Given the description of an element on the screen output the (x, y) to click on. 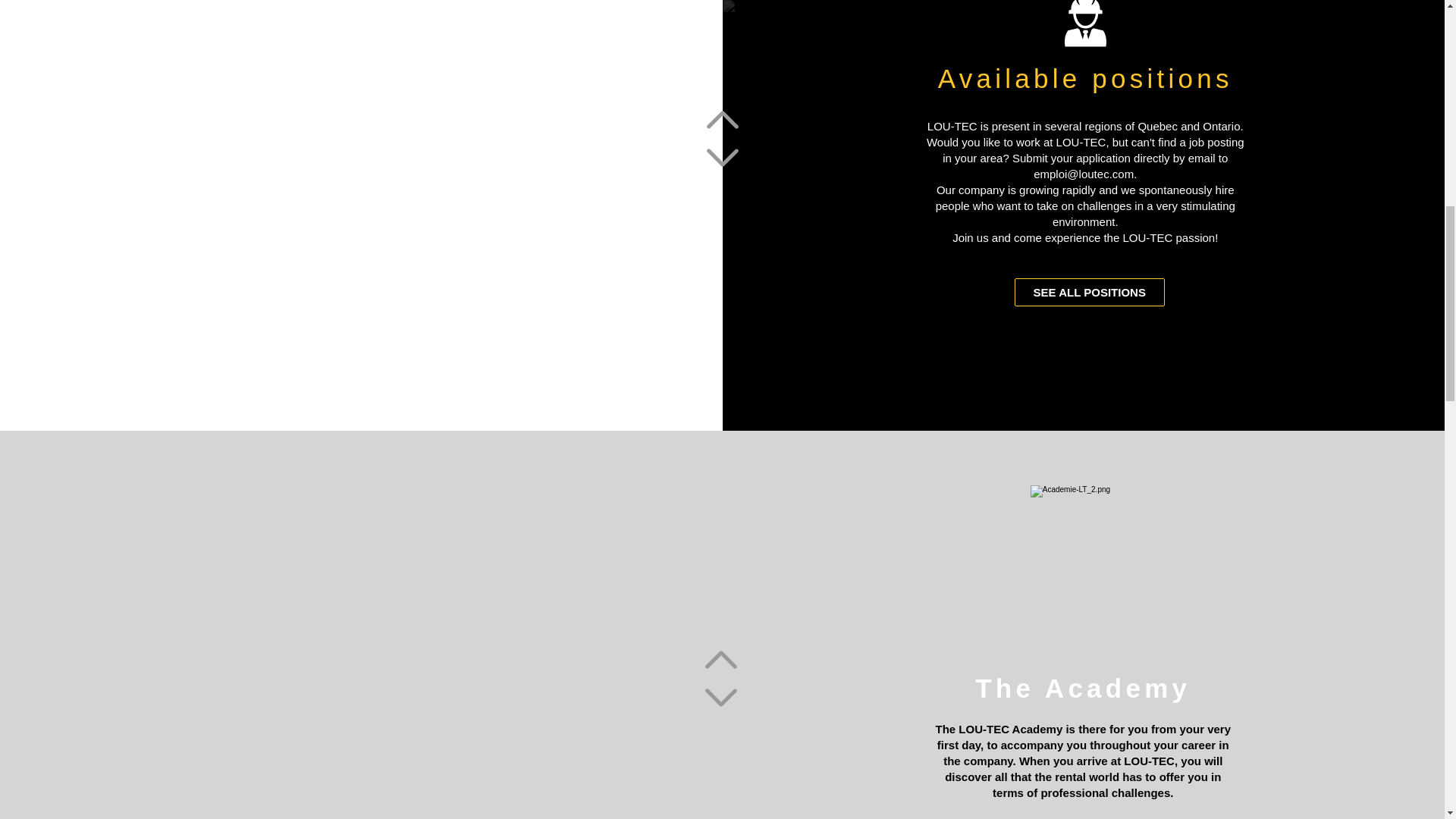
SEE ALL POSITIONS (1089, 292)
